Given the description of an element on the screen output the (x, y) to click on. 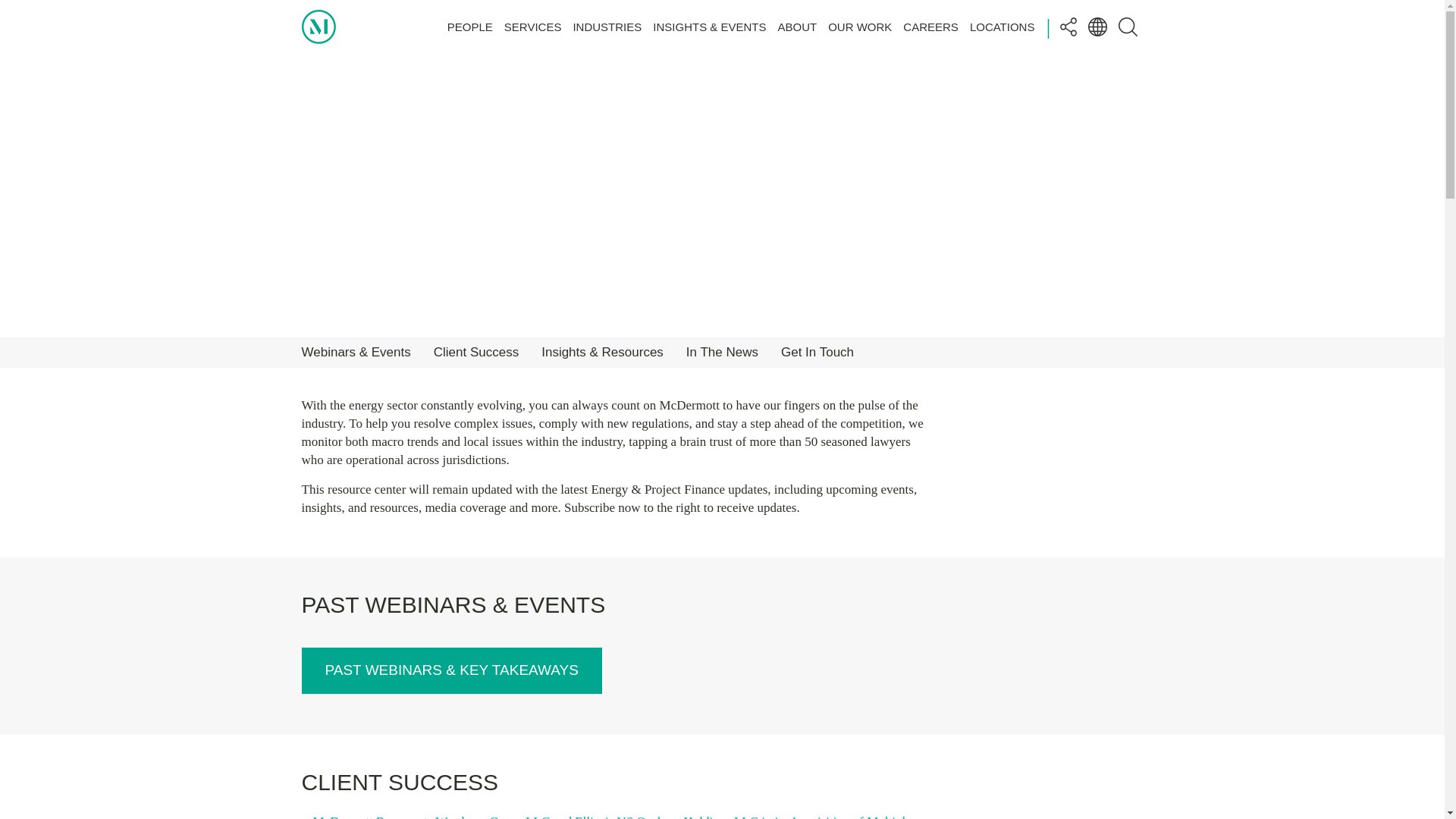
OUR WORK (859, 25)
LOCATIONS (1002, 25)
PEOPLE (469, 25)
Get In Touch (816, 352)
SERVICES (532, 25)
Get In Touch (816, 352)
CAREERS (930, 25)
ABOUT (796, 25)
Client Success (475, 352)
In The News (721, 352)
In The News (721, 352)
Client Success (475, 352)
INDUSTRIES (607, 25)
